Given the description of an element on the screen output the (x, y) to click on. 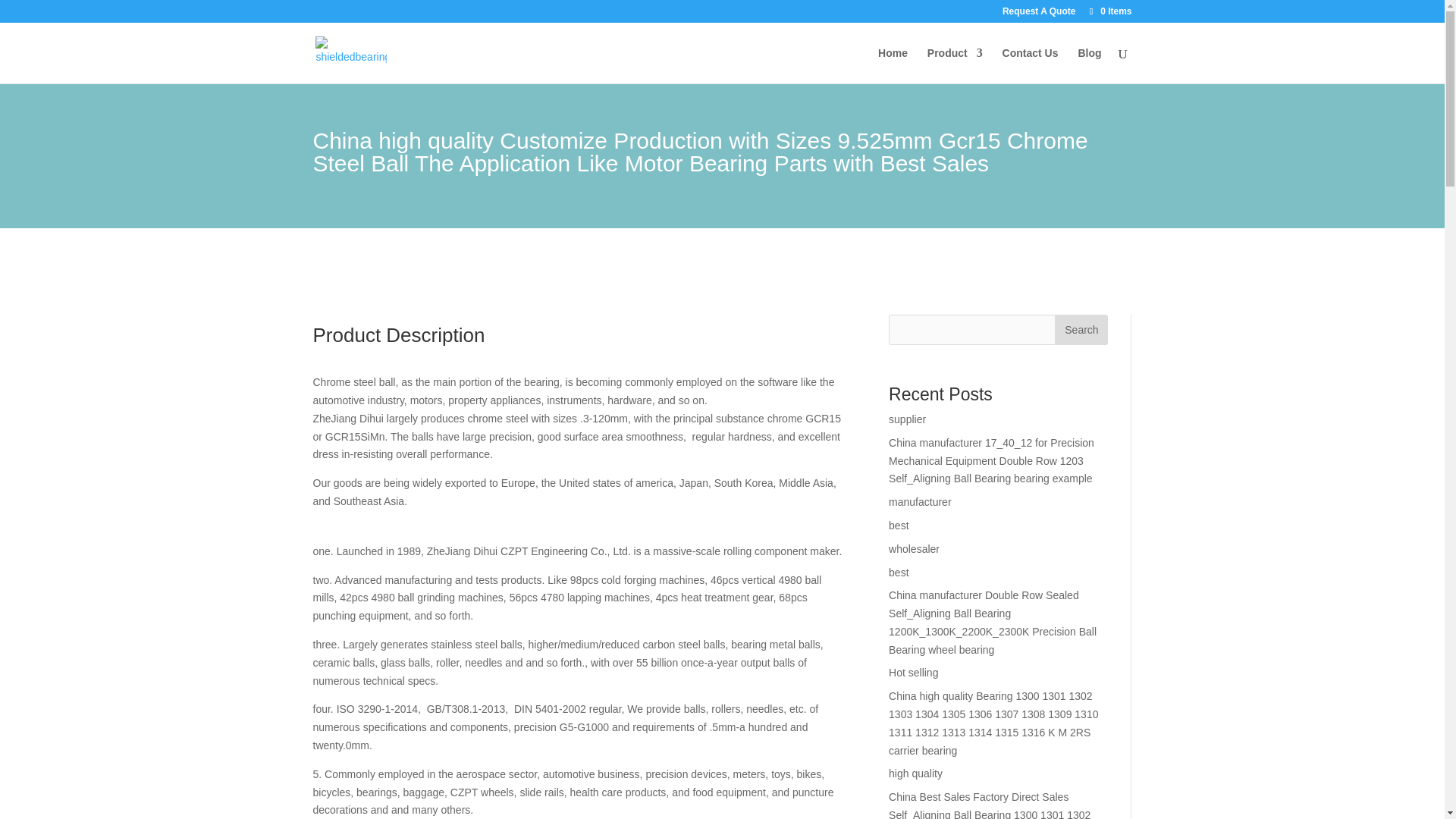
supplier (907, 419)
Search (1081, 329)
Request A Quote (1039, 14)
Product (954, 65)
Contact Us (1030, 65)
0 Items (1108, 10)
best (898, 525)
manufacturer (919, 501)
